Given the description of an element on the screen output the (x, y) to click on. 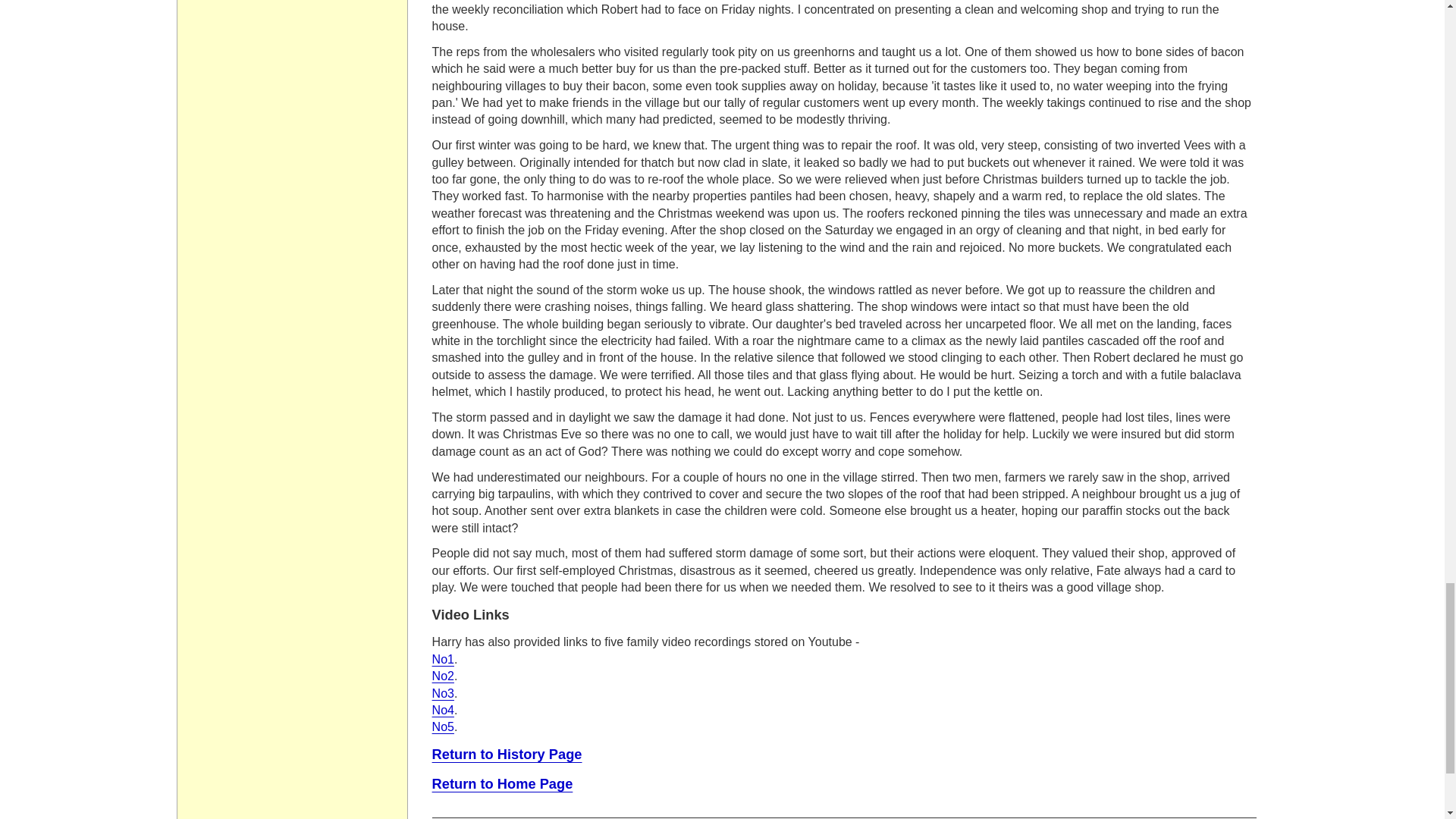
No2 (443, 675)
FMS (443, 658)
FMS (443, 693)
FMS (443, 709)
FMS (443, 675)
Return to Home Page (502, 783)
No4 (443, 709)
Return to History Page (507, 754)
No3 (443, 693)
No1 (443, 658)
